Given the description of an element on the screen output the (x, y) to click on. 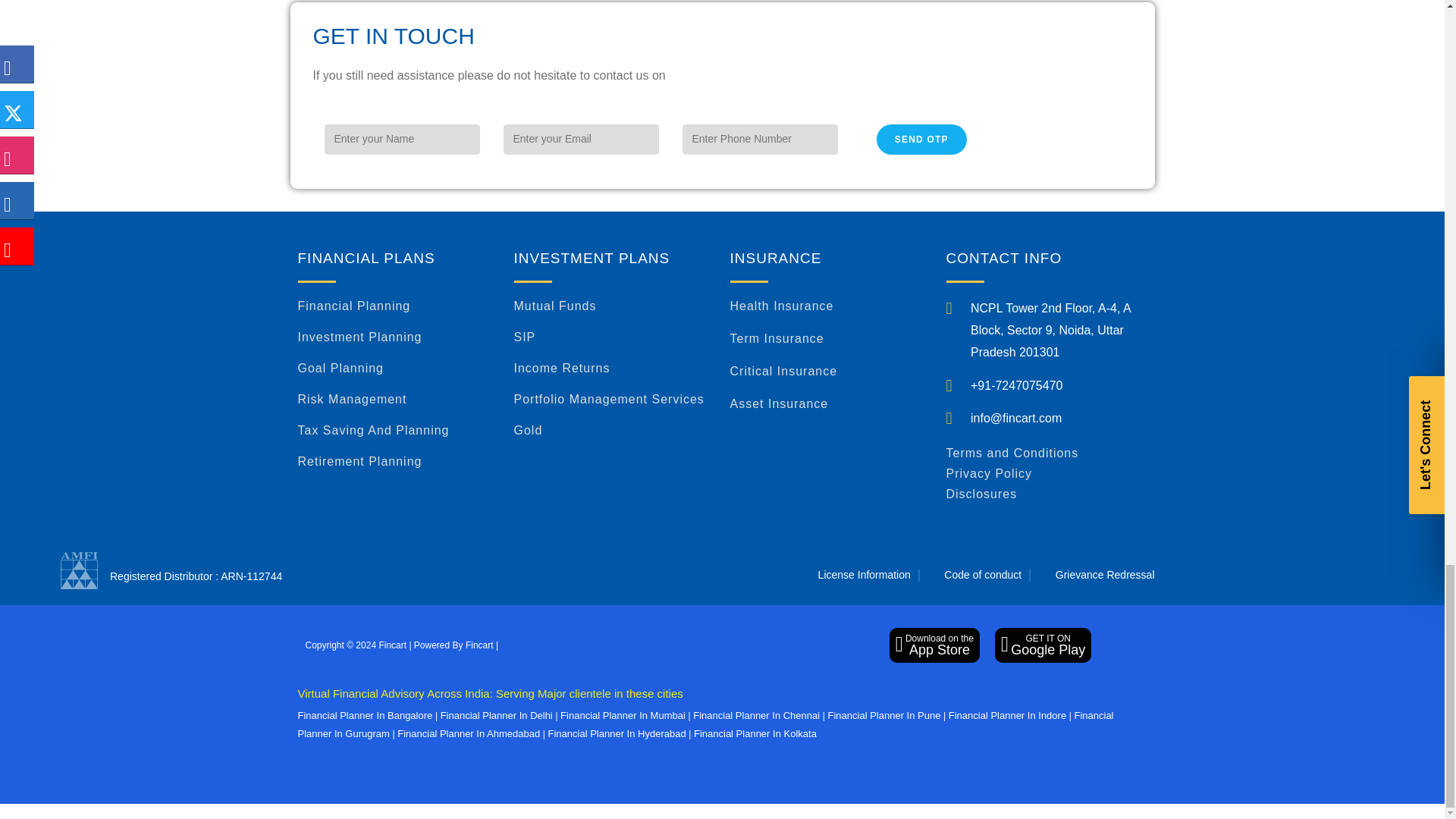
Send OTP (922, 139)
